Given the description of an element on the screen output the (x, y) to click on. 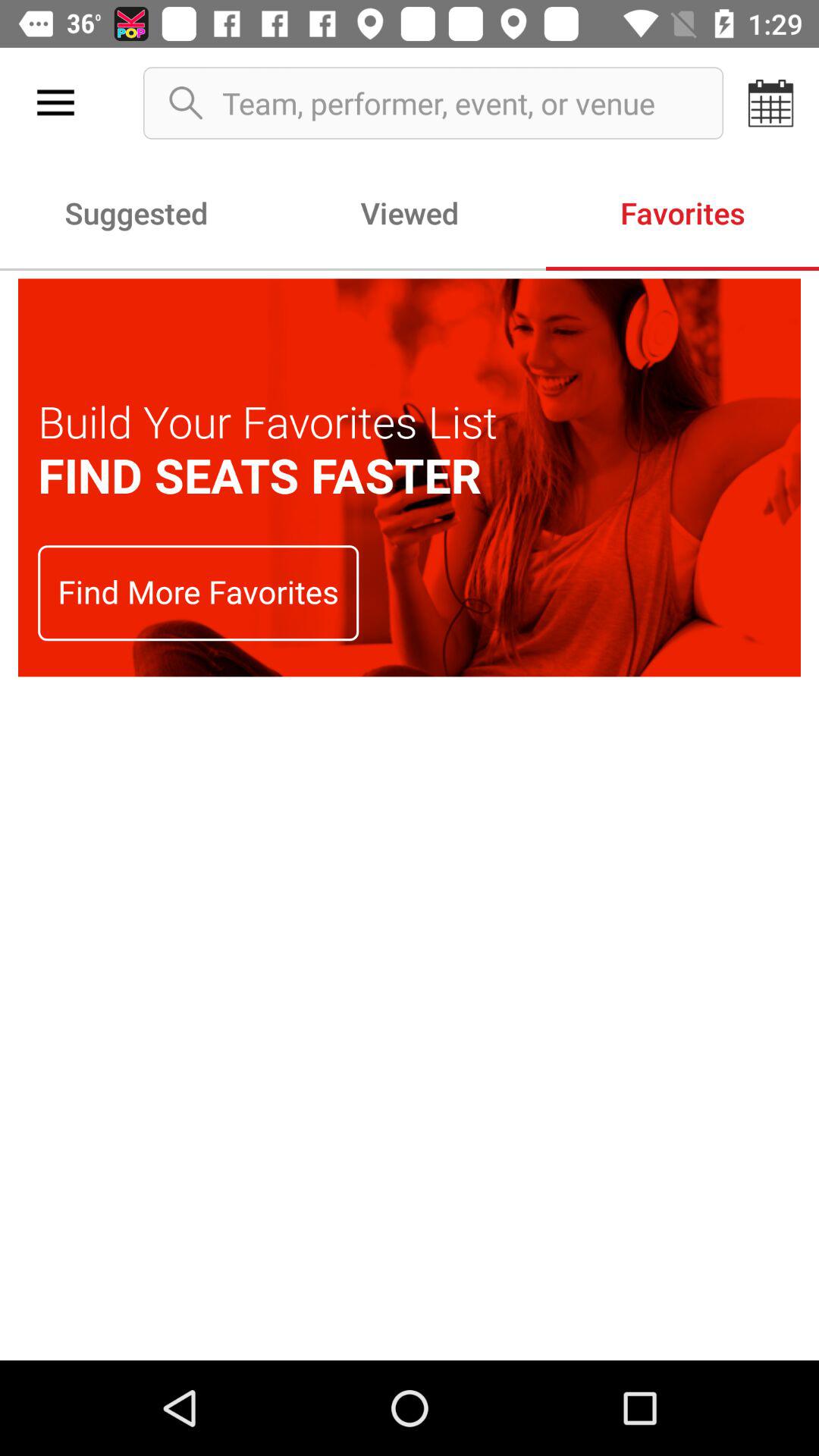
tap the icon below find seats faster (198, 592)
